Given the description of an element on the screen output the (x, y) to click on. 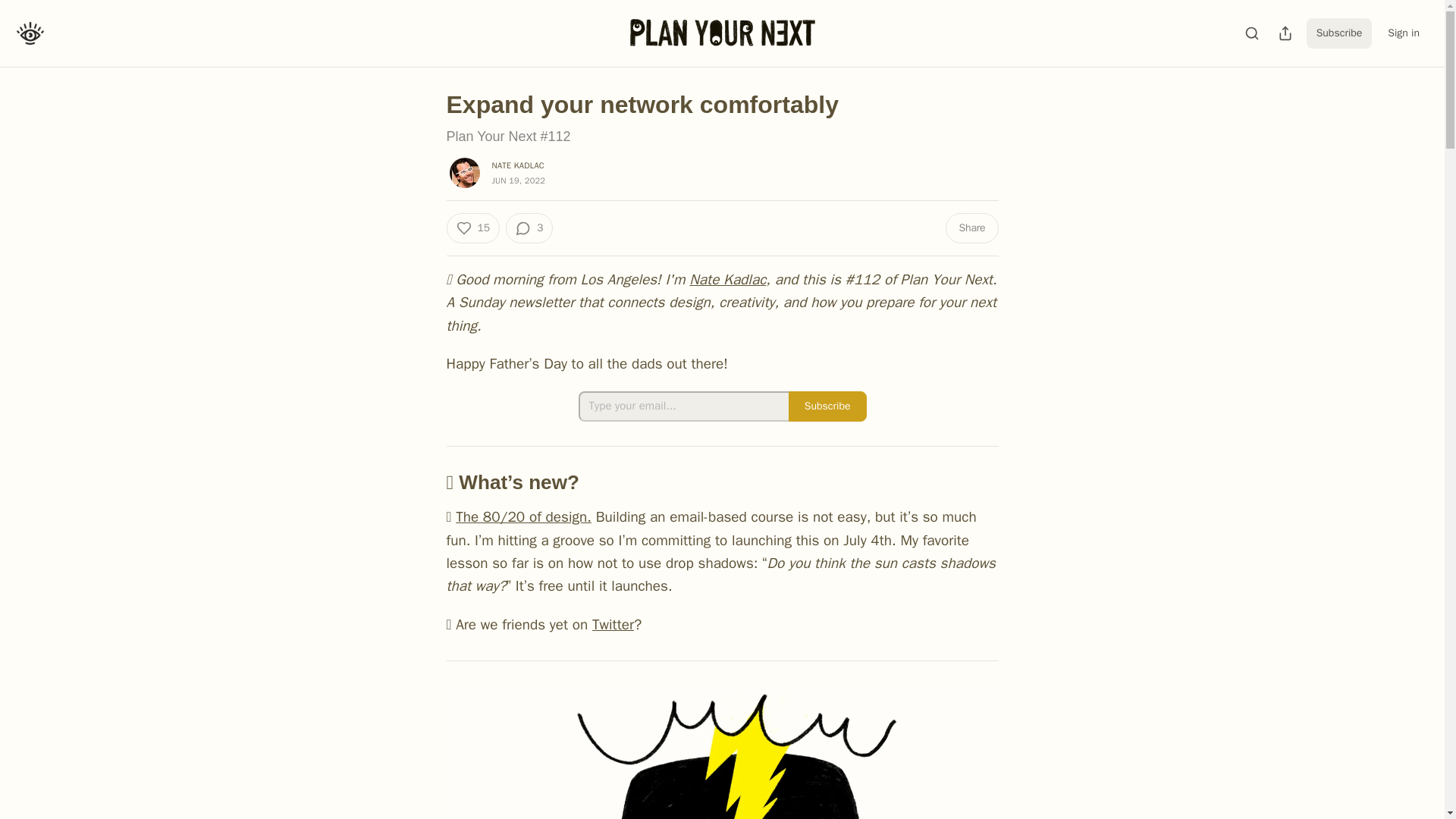
3 (529, 227)
Nate Kadlac (726, 280)
Sign in (1403, 33)
Subscribe (827, 406)
15 (472, 227)
Twitter (612, 624)
Subscribe (1339, 33)
NATE KADLAC (517, 164)
Share (970, 227)
